Given the description of an element on the screen output the (x, y) to click on. 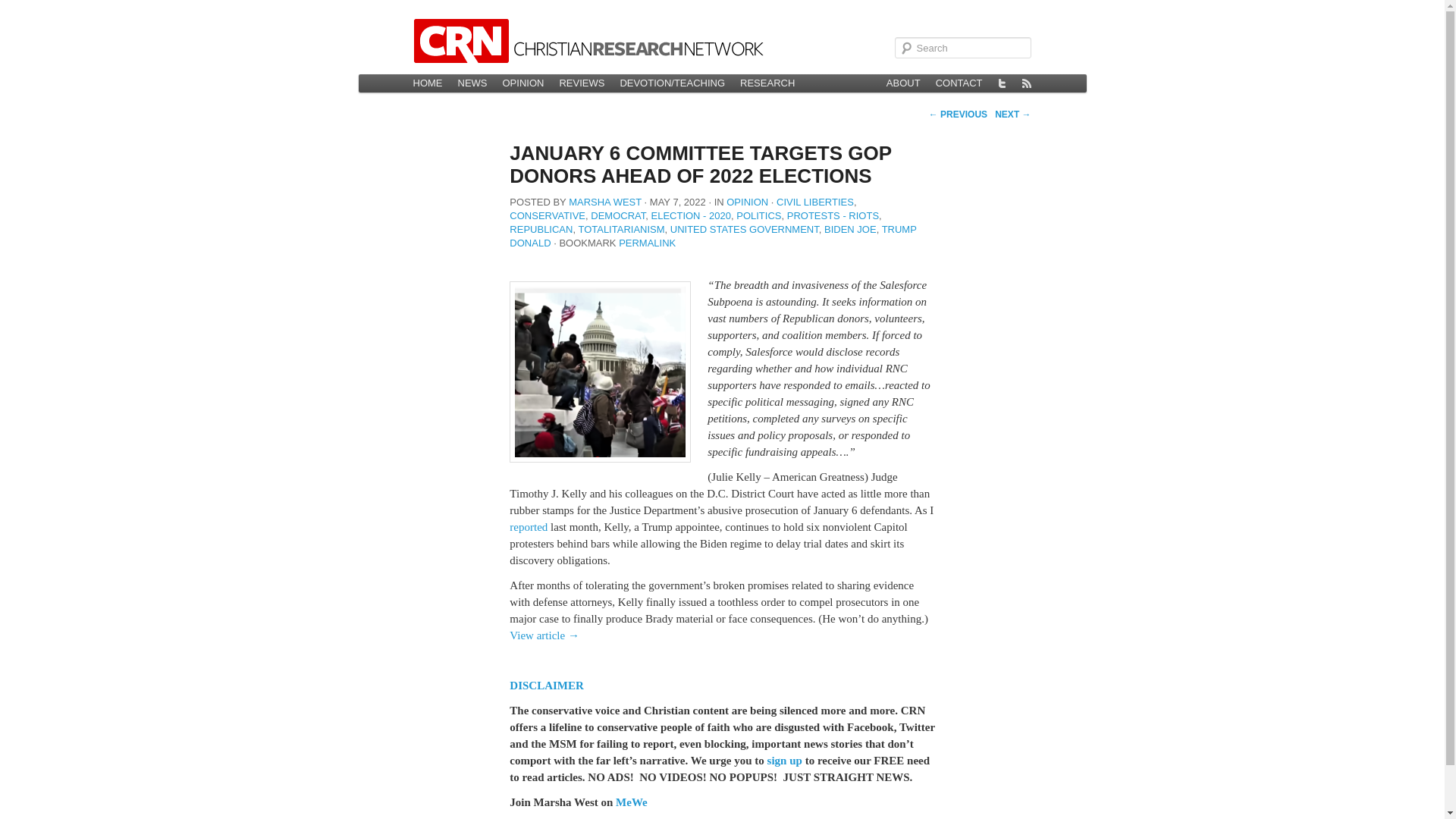
NEWS (472, 83)
ELECTION - 2020 (690, 215)
REPUBLICAN (540, 229)
HOME (426, 83)
CONSERVATIVE (547, 215)
PERMALINK (646, 242)
DISCLAIMER (546, 685)
View all posts by Marsha West (605, 202)
DEMOCRAT (618, 215)
TOTALITARIANISM (620, 229)
MARSHA WEST (605, 202)
Search (21, 7)
OPINION (523, 83)
REVIEWS (581, 83)
